Given the description of an element on the screen output the (x, y) to click on. 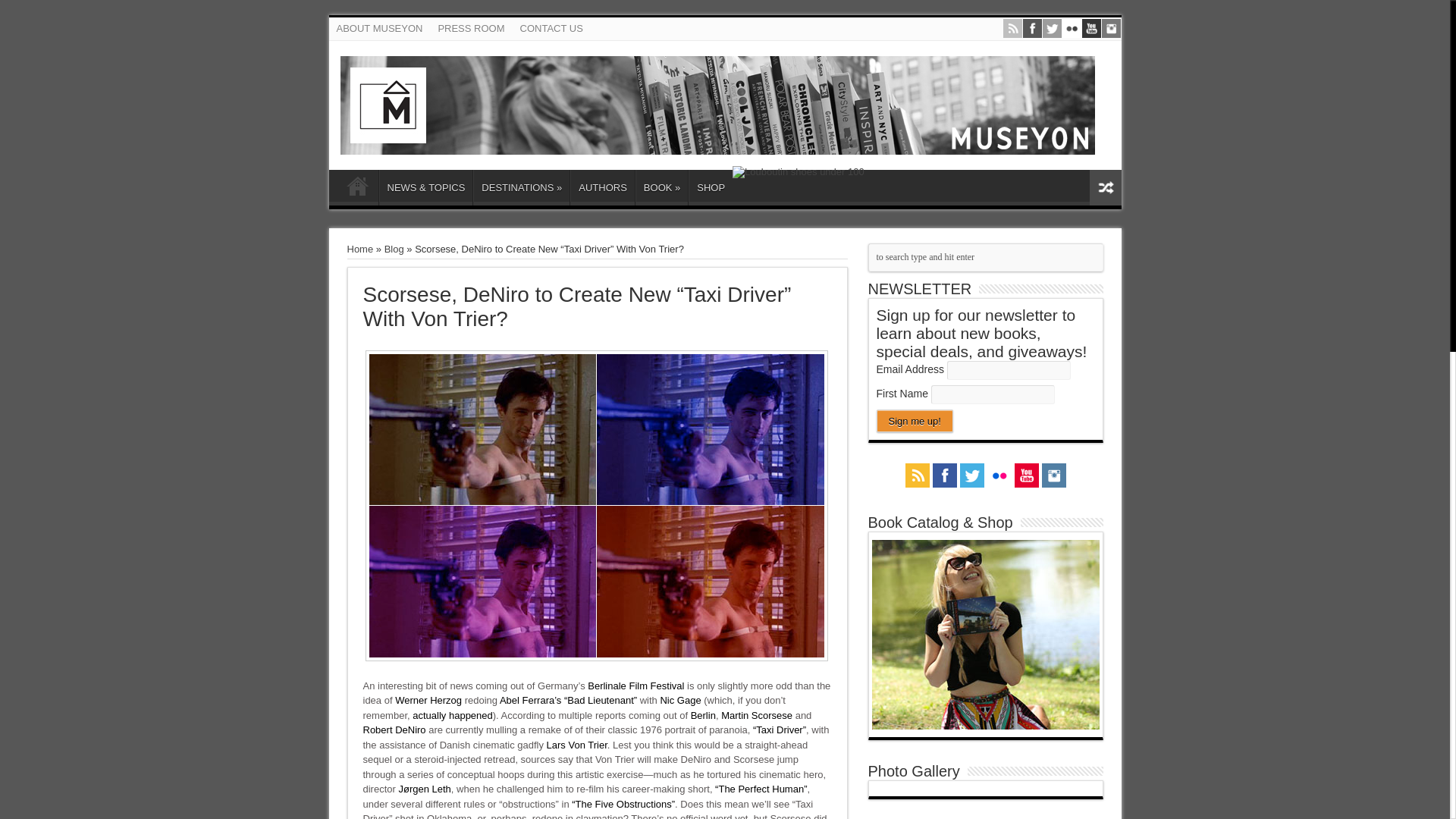
to search type and hit enter (984, 257)
MUSEYON BOOKS (716, 143)
CONTACT US (551, 28)
HOME (357, 189)
PRESS ROOM (470, 28)
Sign me up! (914, 420)
ABOUT MUSEYON (379, 28)
